Given the description of an element on the screen output the (x, y) to click on. 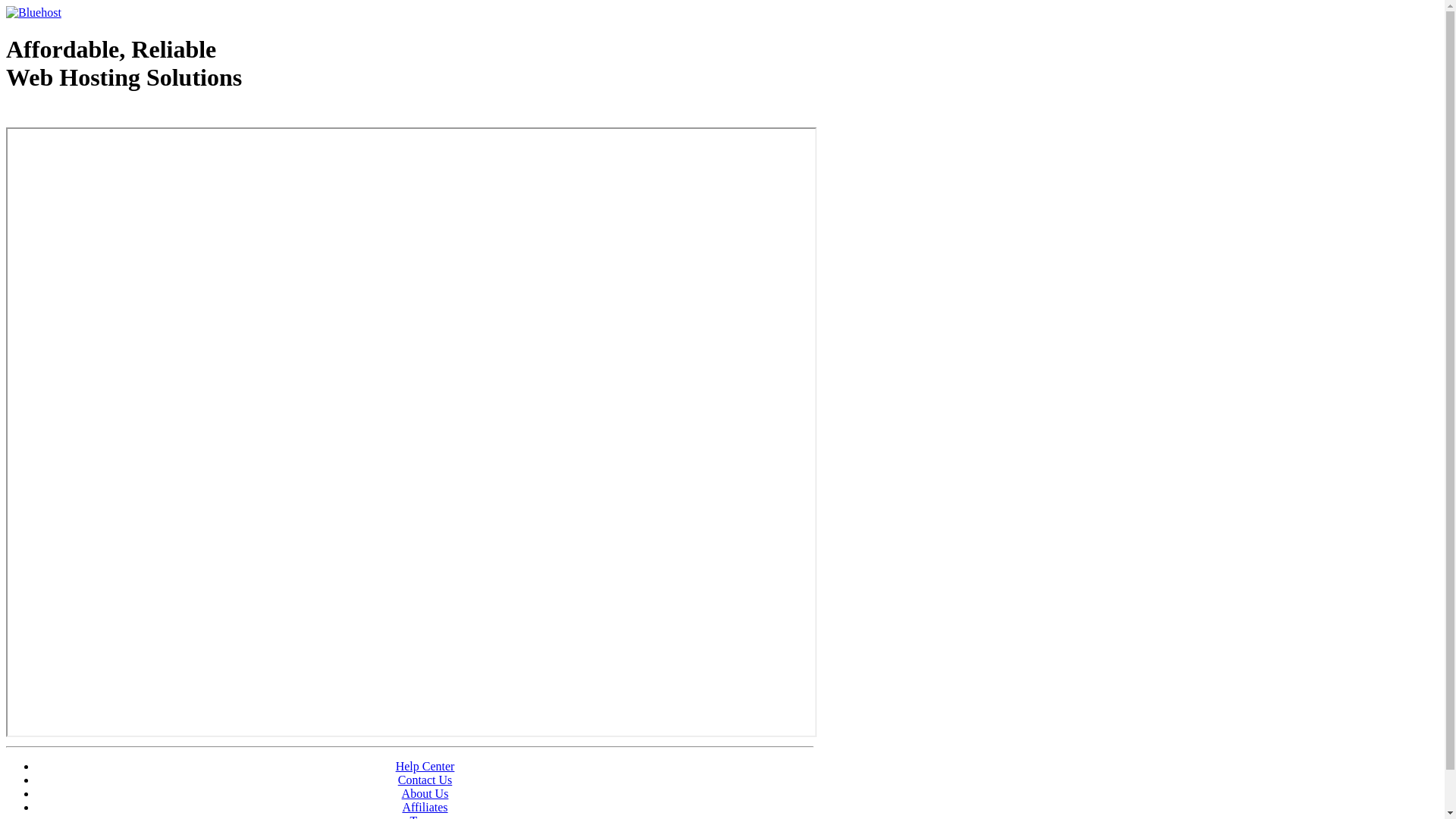
Contact Us Element type: text (425, 779)
Affiliates Element type: text (424, 806)
Help Center Element type: text (425, 765)
About Us Element type: text (424, 793)
Web Hosting - courtesy of www.bluehost.com Element type: text (94, 115)
